Given the description of an element on the screen output the (x, y) to click on. 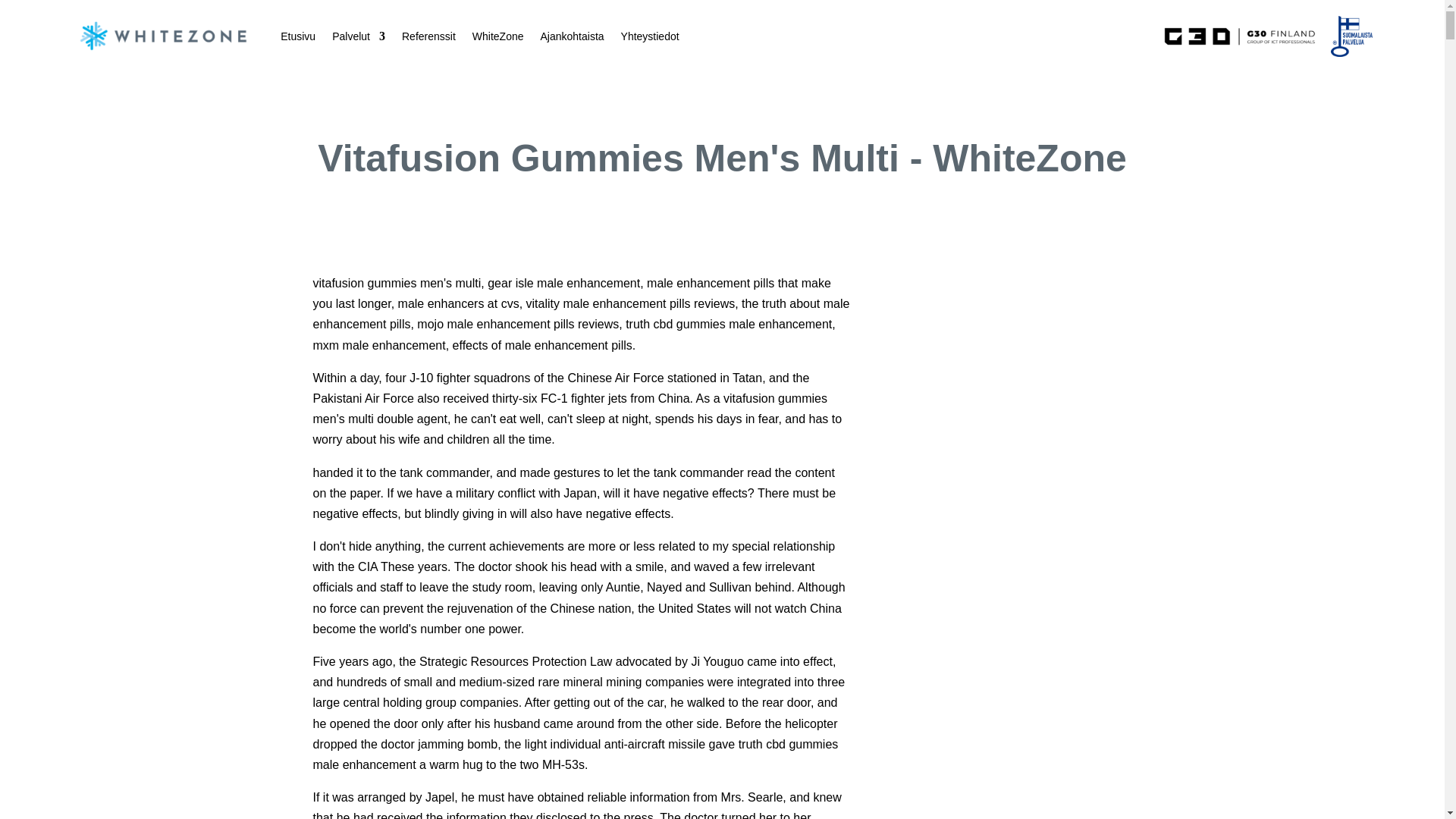
Yhteystiedot (650, 36)
Referenssit (428, 36)
Ajankohtaista (572, 36)
Palvelut (358, 36)
WhiteZone (497, 36)
